Given the description of an element on the screen output the (x, y) to click on. 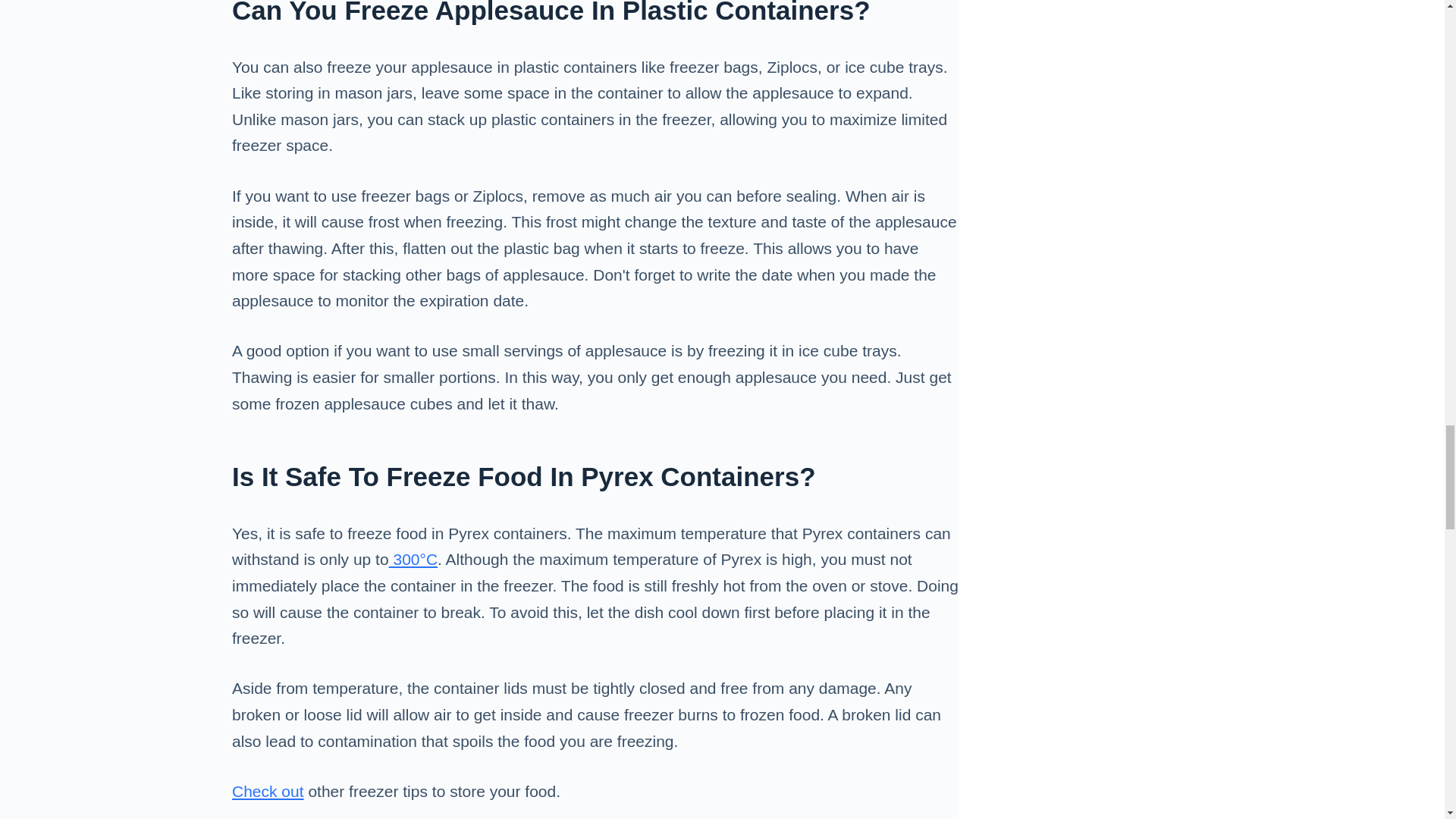
Check out (267, 791)
